Given the description of an element on the screen output the (x, y) to click on. 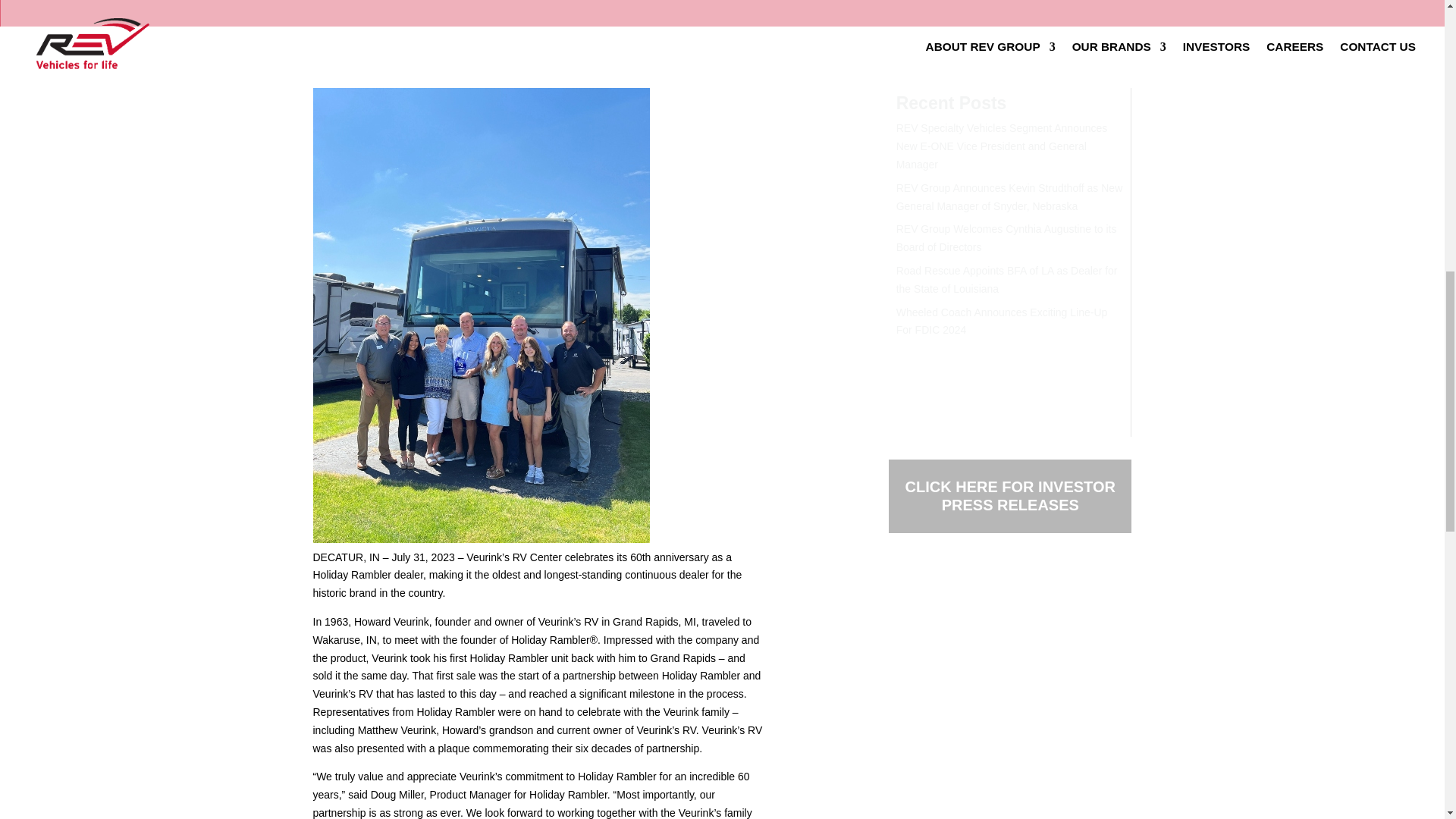
Follow on LinkedIn (961, 586)
Follow on X (930, 586)
Follow on Facebook (900, 586)
